Given the description of an element on the screen output the (x, y) to click on. 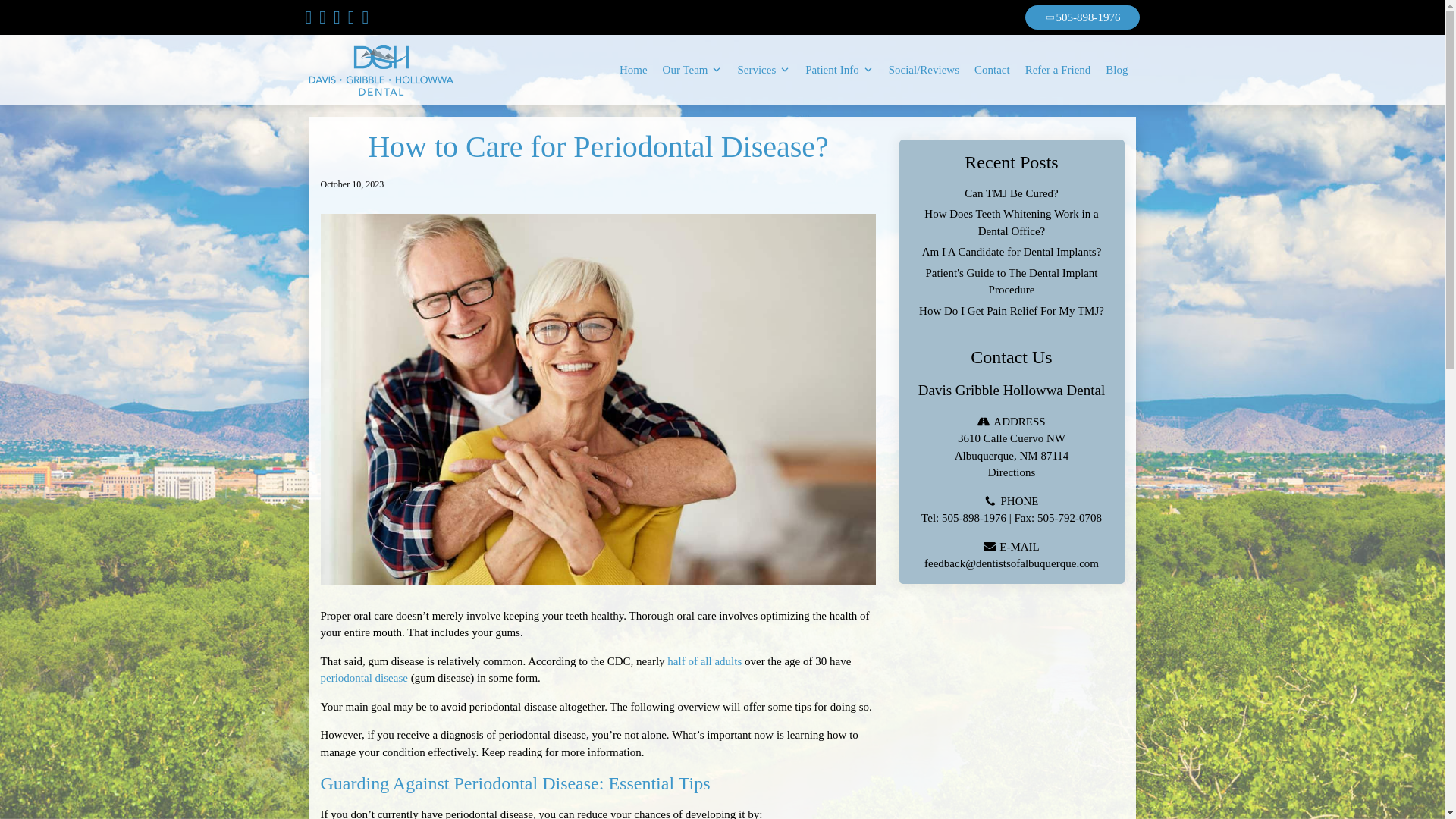
Home (633, 69)
Phone Number (1081, 17)
505-898-1976 (1081, 17)
Services (763, 69)
Our Team (692, 69)
Patient Info (838, 69)
